Given the description of an element on the screen output the (x, y) to click on. 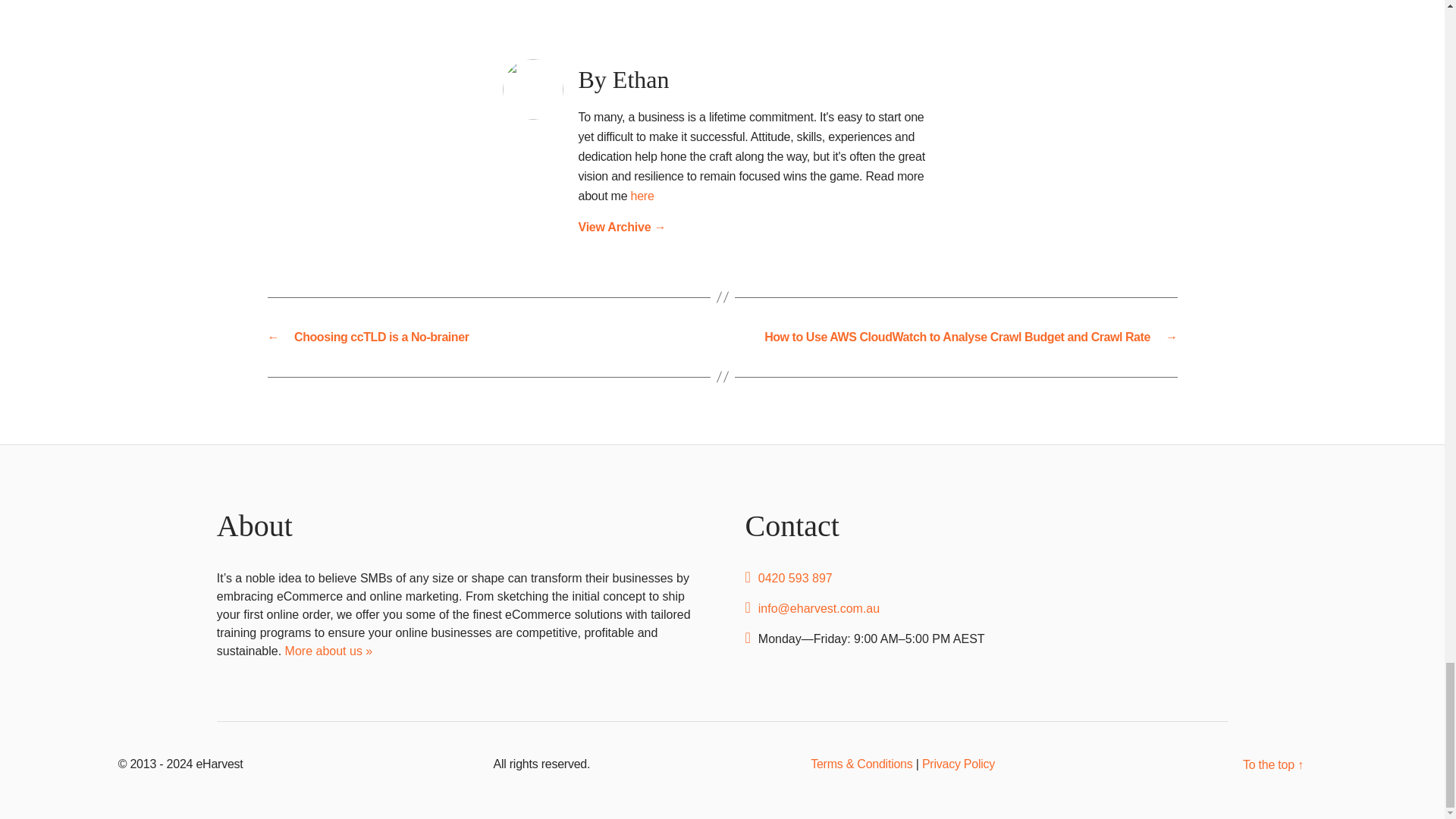
here (641, 195)
0420 593 897 (795, 577)
Privacy Policy (957, 763)
